Given the description of an element on the screen output the (x, y) to click on. 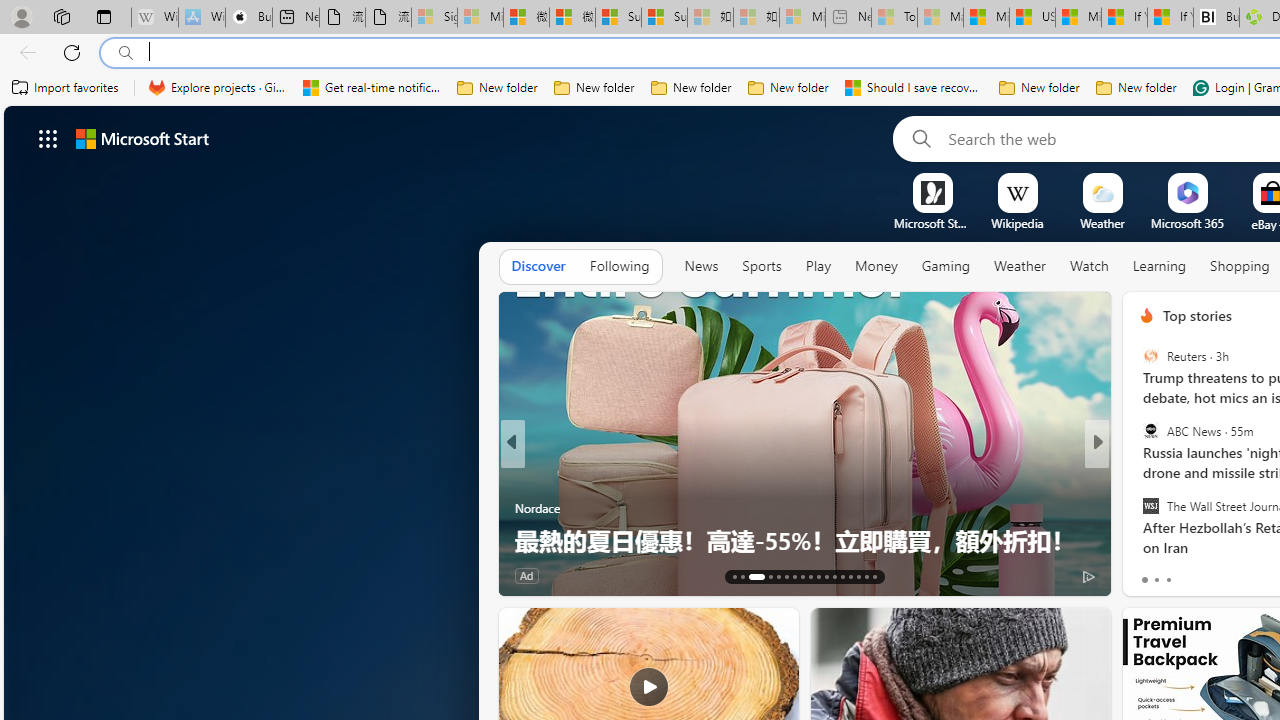
Shopping (1240, 265)
tab-0 (1143, 579)
 UPI News (1138, 475)
AutomationID: tab-26 (850, 576)
US Heat Deaths Soared To Record High Last Year (1031, 17)
633 Like (1151, 574)
Wikipedia (1017, 223)
Weather (1020, 265)
202 Like (1151, 574)
Import favorites (65, 88)
186 Like (1151, 574)
